Given the description of an element on the screen output the (x, y) to click on. 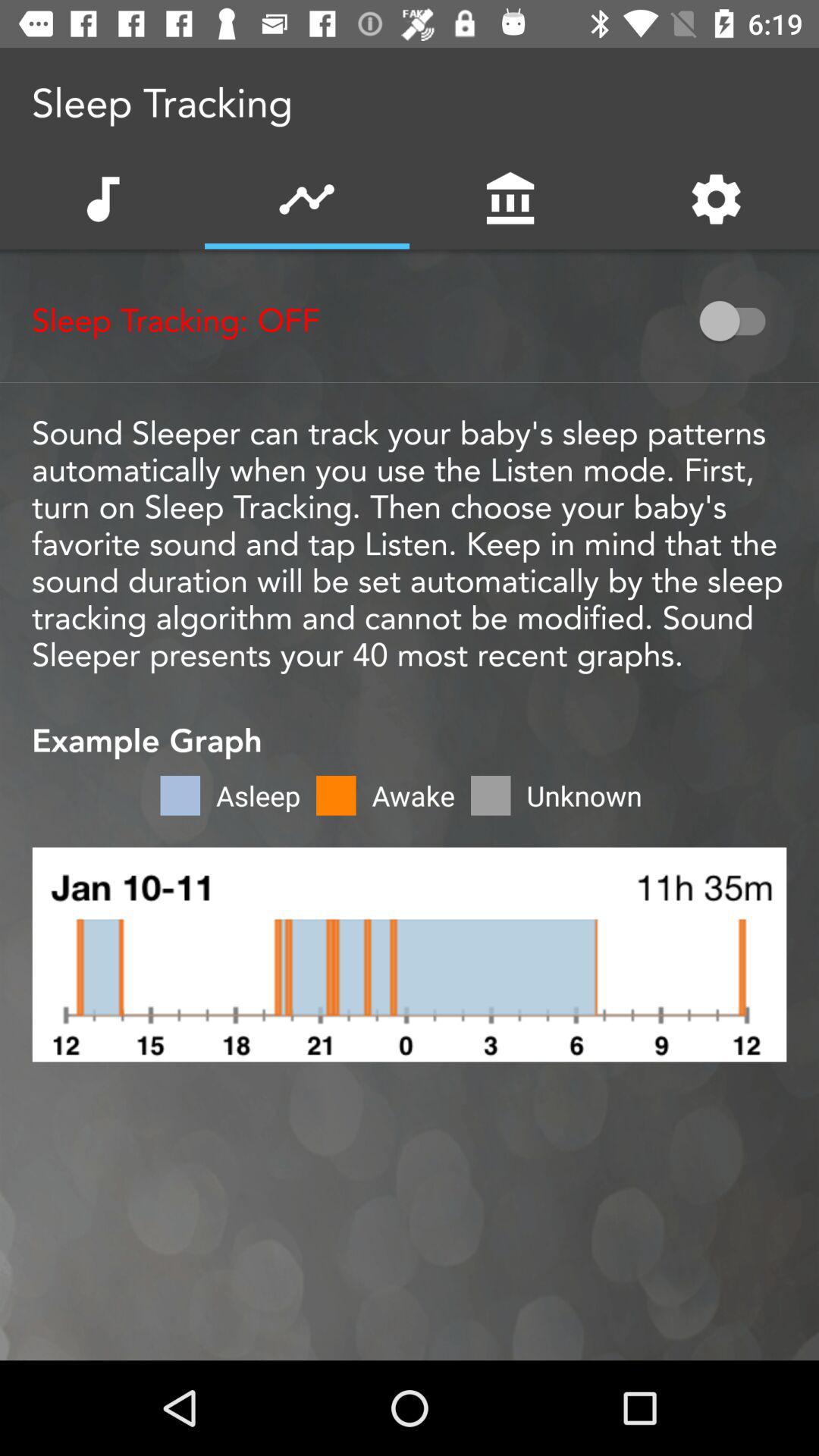
turn off sleep tracking feature (739, 321)
